Given the description of an element on the screen output the (x, y) to click on. 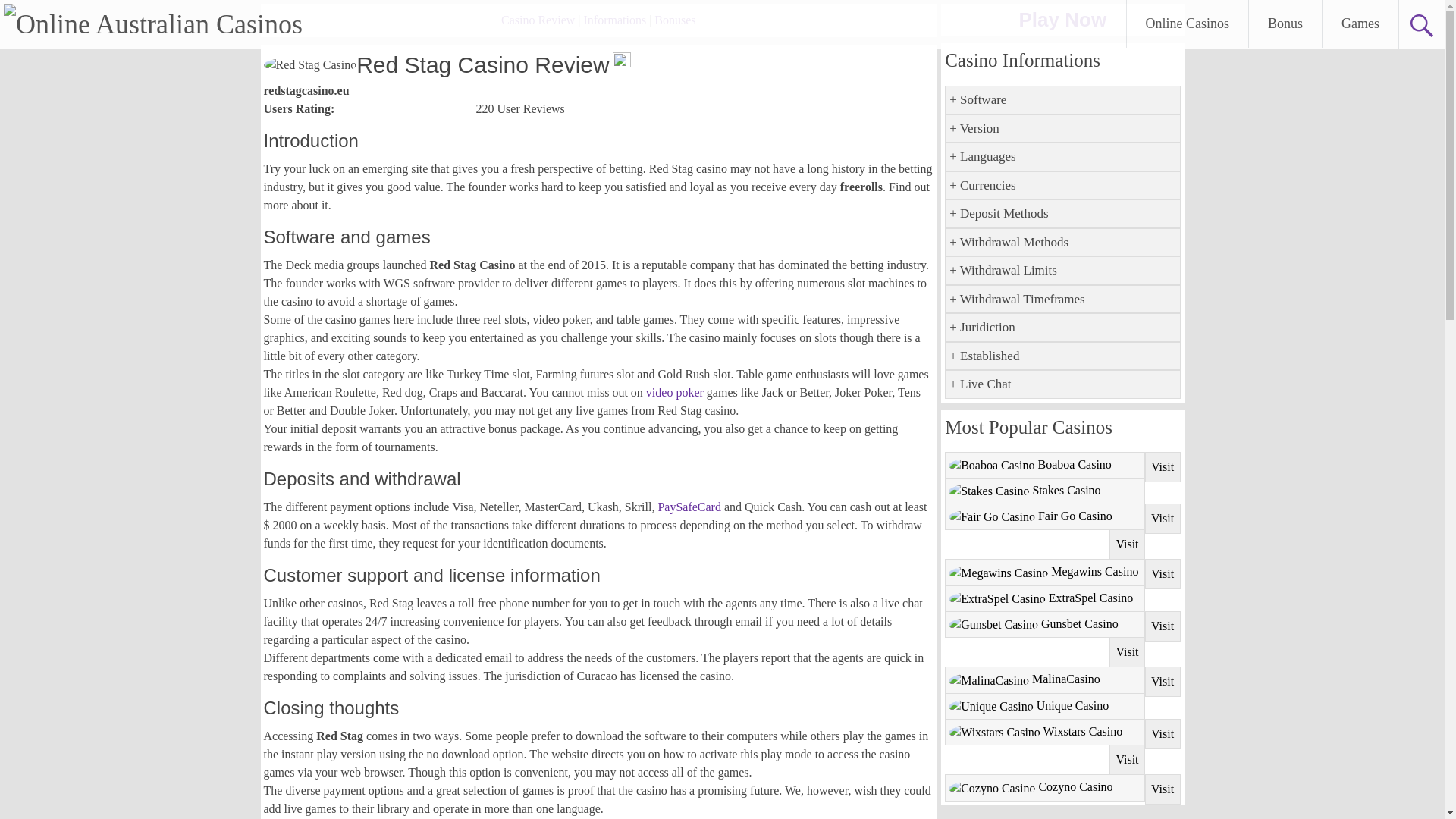
Bonuses (674, 19)
Games (1359, 23)
Online Australian Casinos (153, 24)
Online Casinos (1187, 23)
PaySafeCard (689, 506)
Red Stag Casino Bonuses (674, 19)
Bonus (1285, 23)
video poker (674, 391)
Red Stag Casino Informations (614, 19)
Informations (614, 19)
Red Stag Casino Description (537, 19)
Online Australian Casinos (153, 24)
Casino Review (537, 19)
